Given the description of an element on the screen output the (x, y) to click on. 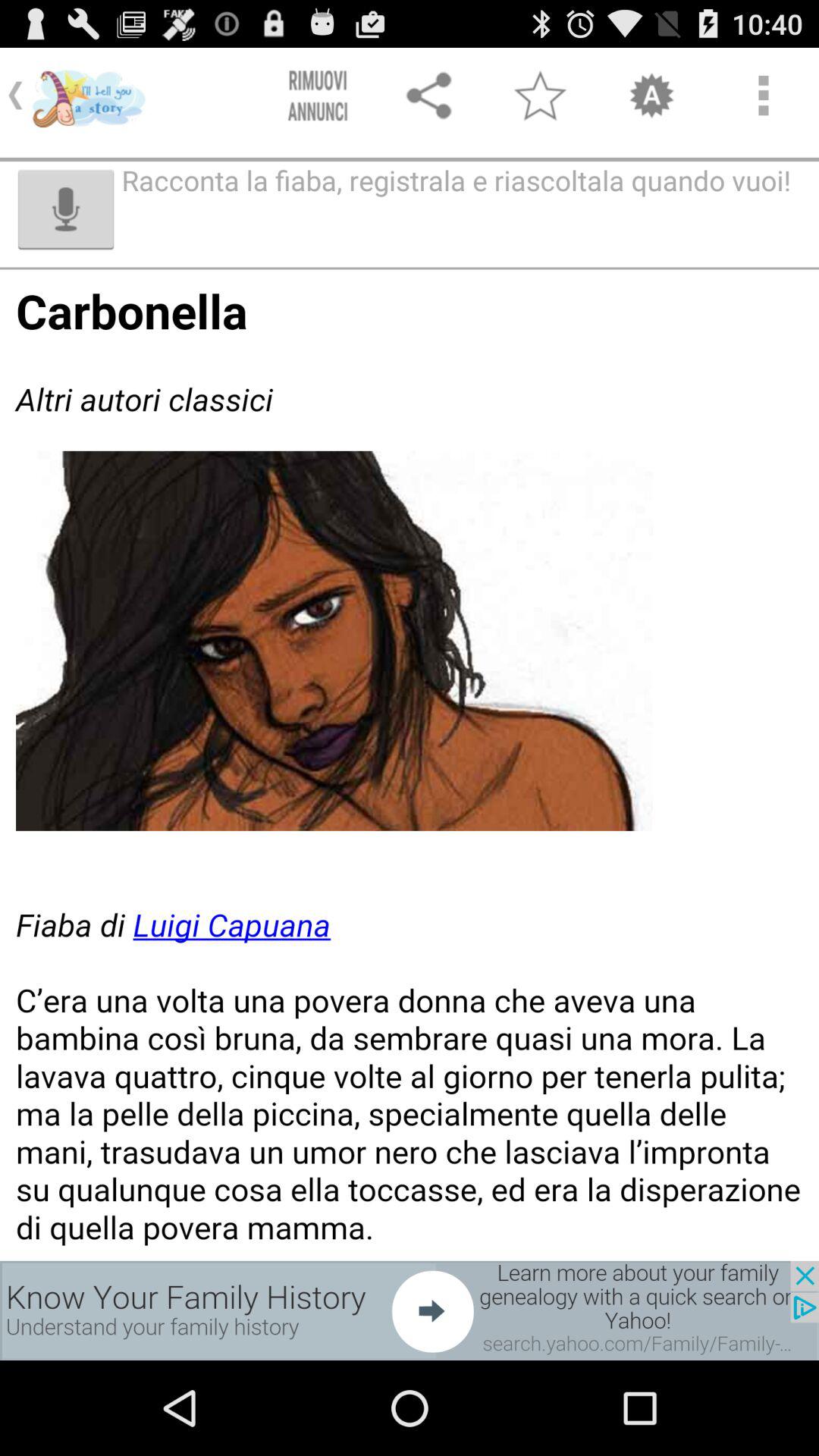
see about carbonella (409, 764)
